Given the description of an element on the screen output the (x, y) to click on. 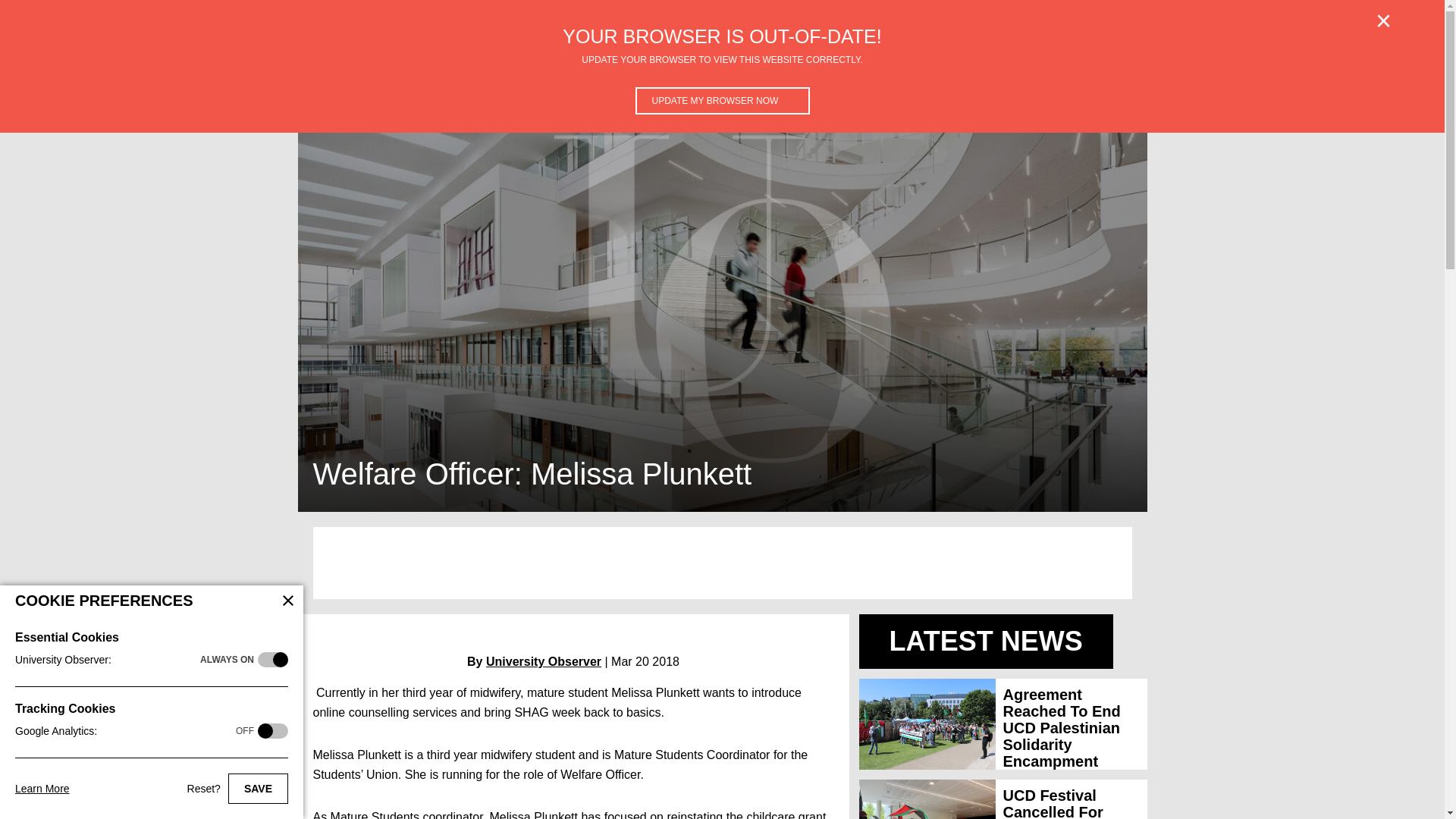
Advertisement (722, 562)
Gaeilge (725, 73)
The Harpy (848, 73)
Science (501, 73)
Sport (667, 73)
Advertisement (1018, 73)
Columns (926, 73)
Features (366, 73)
